Given the description of an element on the screen output the (x, y) to click on. 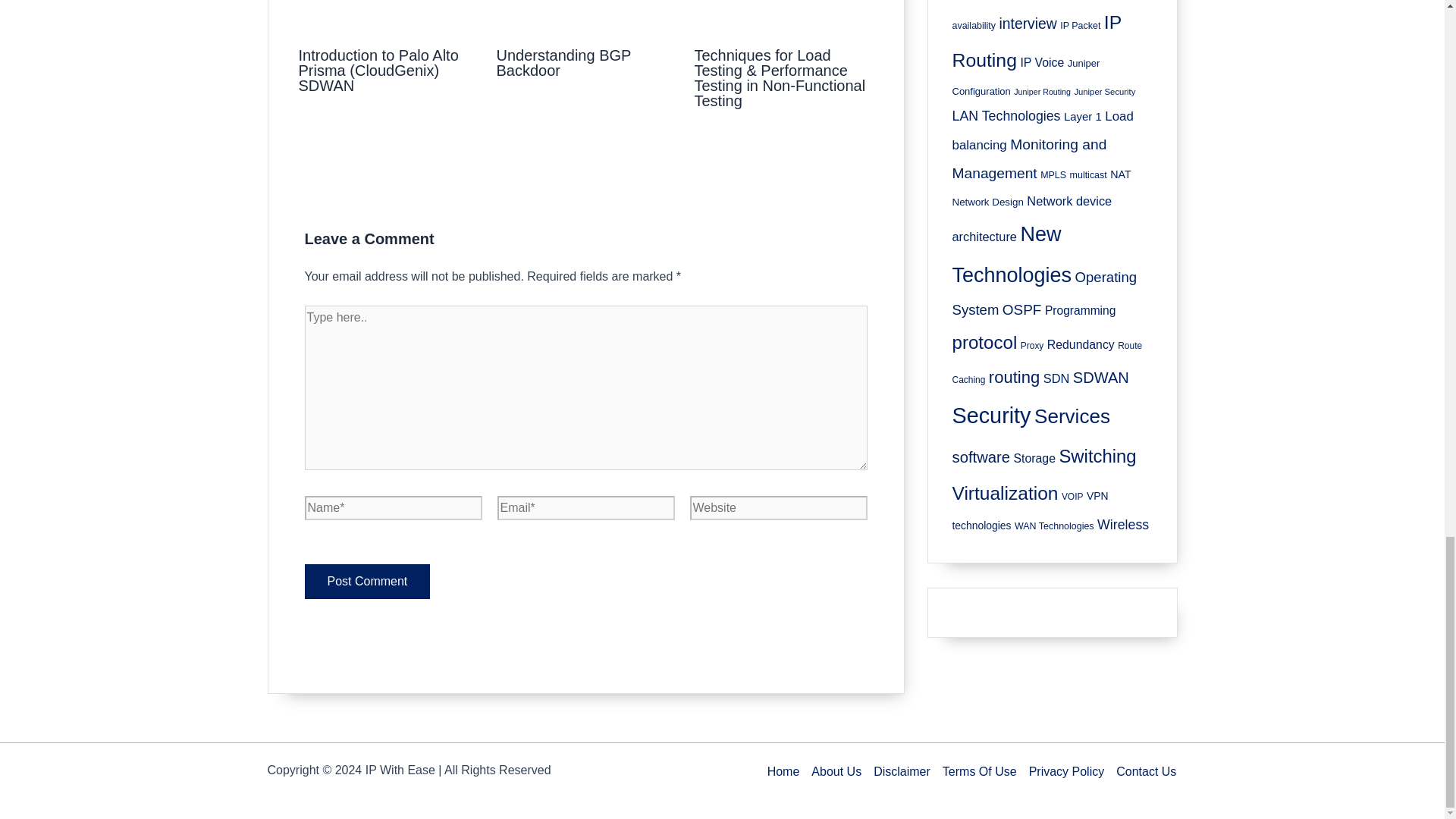
Post Comment (367, 581)
